Given the description of an element on the screen output the (x, y) to click on. 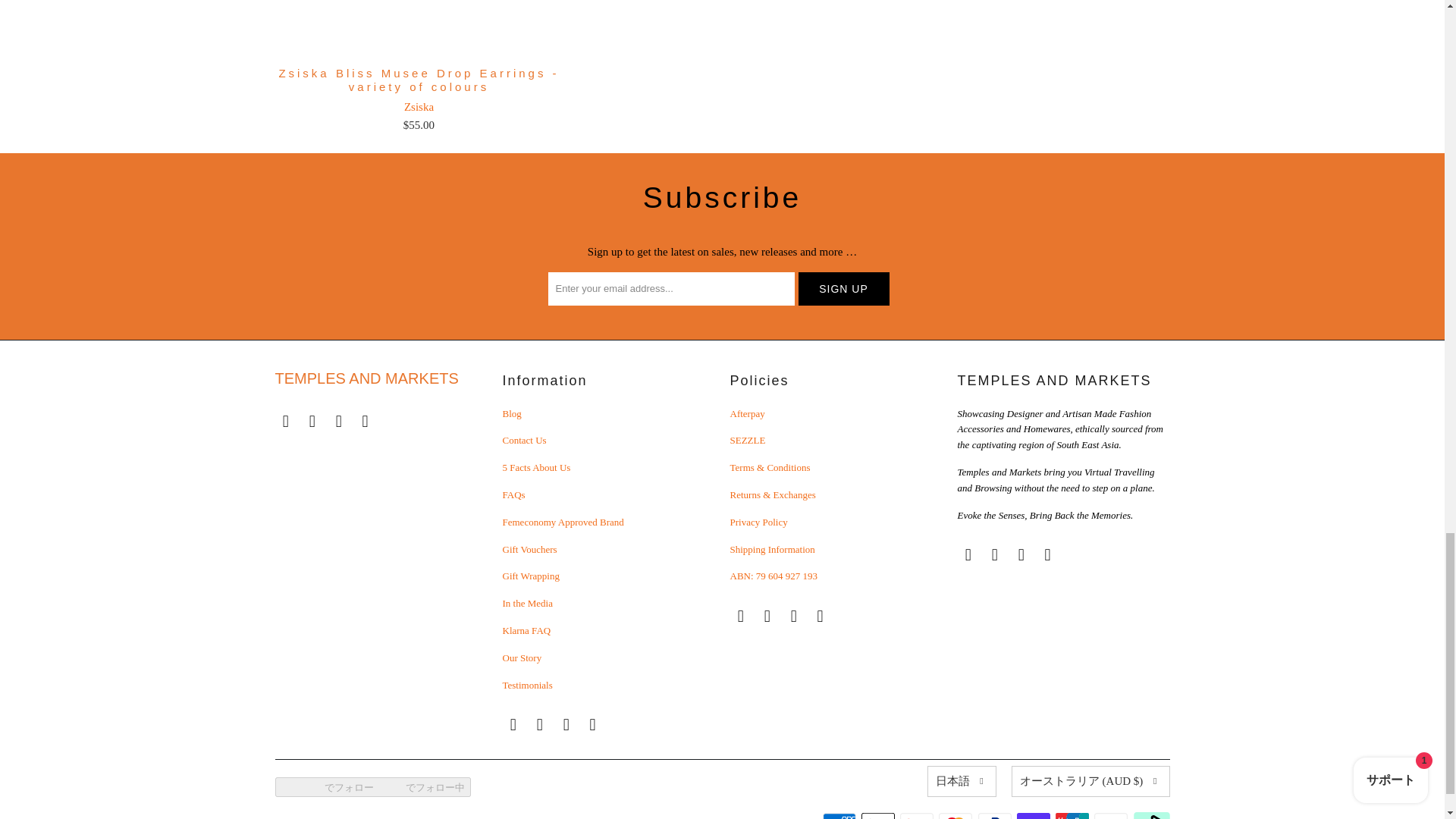
Sign Up (842, 288)
American Express (840, 815)
Email Temples and Markets (513, 724)
Email Temples and Markets (286, 421)
Mastercard (957, 815)
Visa (1112, 815)
Temples and Markets on Instagram (338, 421)
Temples and Markets on Facebook (312, 421)
Google Pay (917, 815)
Apple Pay (879, 815)
Union Pay (1073, 815)
Temples and Markets on Pinterest (365, 421)
Shop Pay (1034, 815)
PayPal (996, 815)
